Given the description of an element on the screen output the (x, y) to click on. 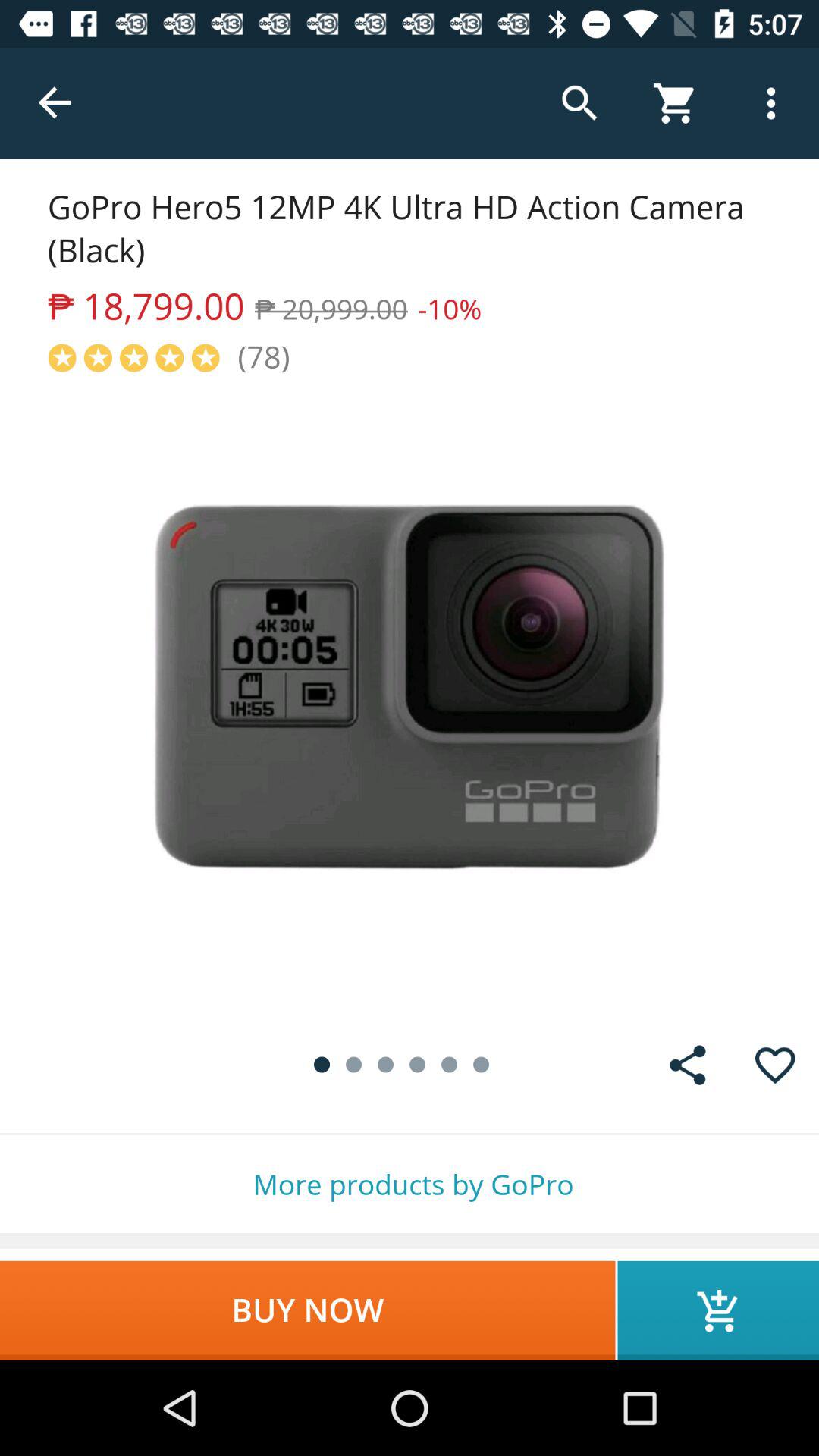
choose item above the more products by icon (687, 1065)
